Given the description of an element on the screen output the (x, y) to click on. 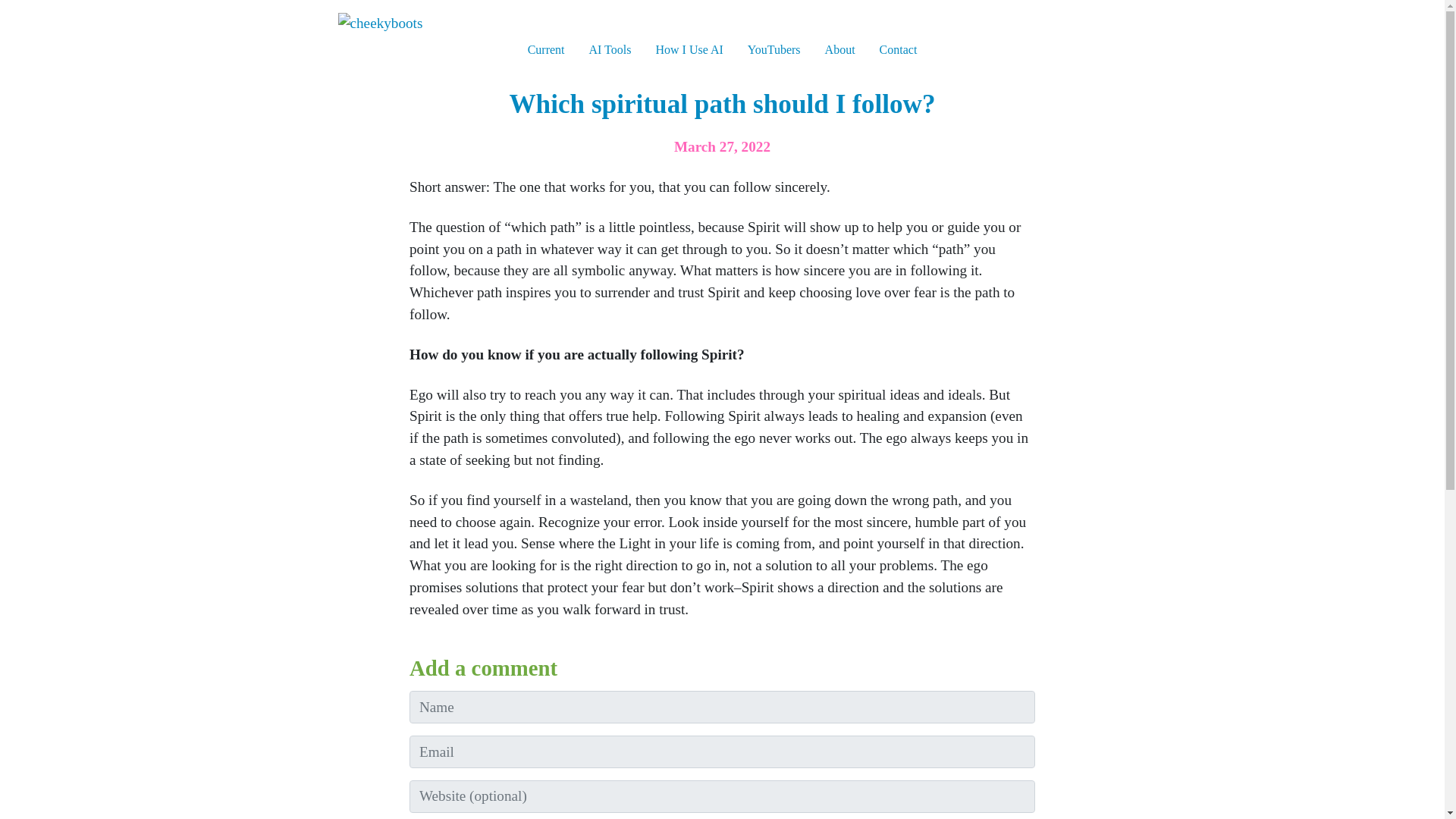
YouTubers (773, 50)
Contact (898, 50)
How I Use AI (689, 50)
AI Tools (609, 50)
About (839, 50)
Current (545, 50)
